Given the description of an element on the screen output the (x, y) to click on. 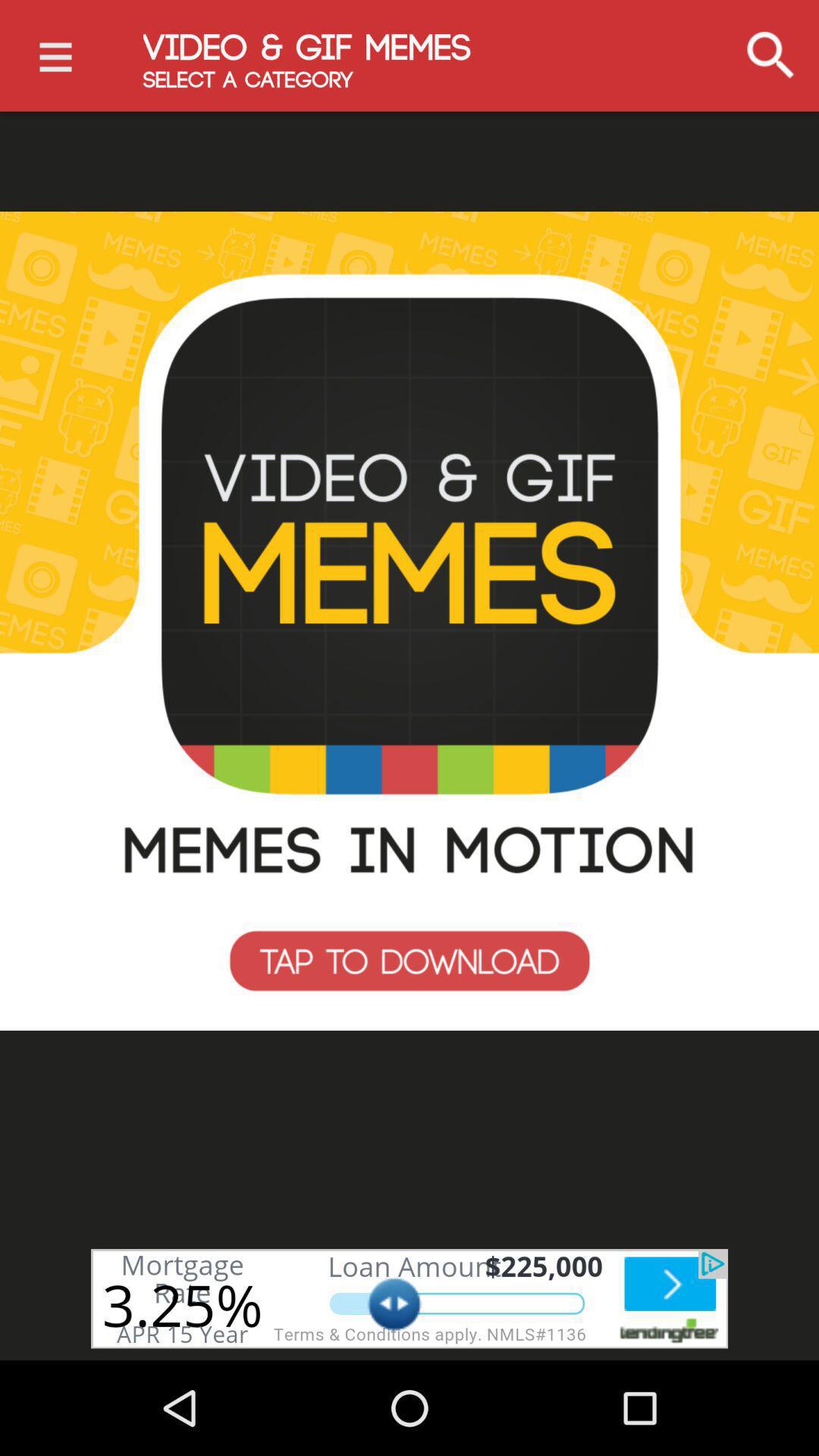
open advertisement (409, 1298)
